Given the description of an element on the screen output the (x, y) to click on. 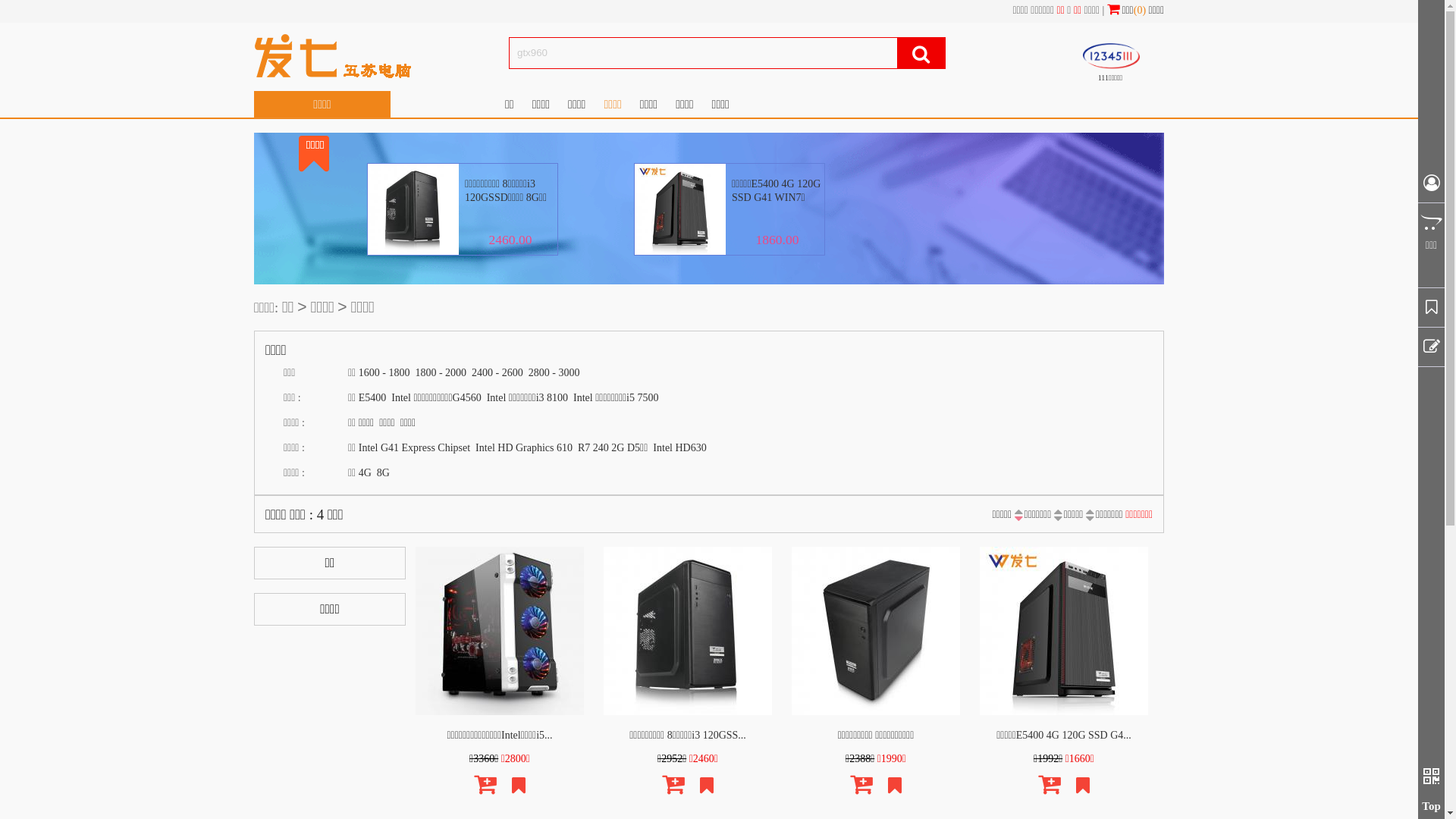
1600 - 1800 Element type: text (384, 372)
Intel G41 Express Chipset Element type: text (414, 447)
2800 - 3000 Element type: text (554, 372)
8G Element type: text (382, 472)
Intel HD Graphics 610 Element type: text (523, 447)
E5400 Element type: text (372, 397)
Intel HD630 Element type: text (679, 447)
2400 - 2600 Element type: text (497, 372)
1800 - 2000 Element type: text (440, 372)
4G Element type: text (364, 472)
